Given the description of an element on the screen output the (x, y) to click on. 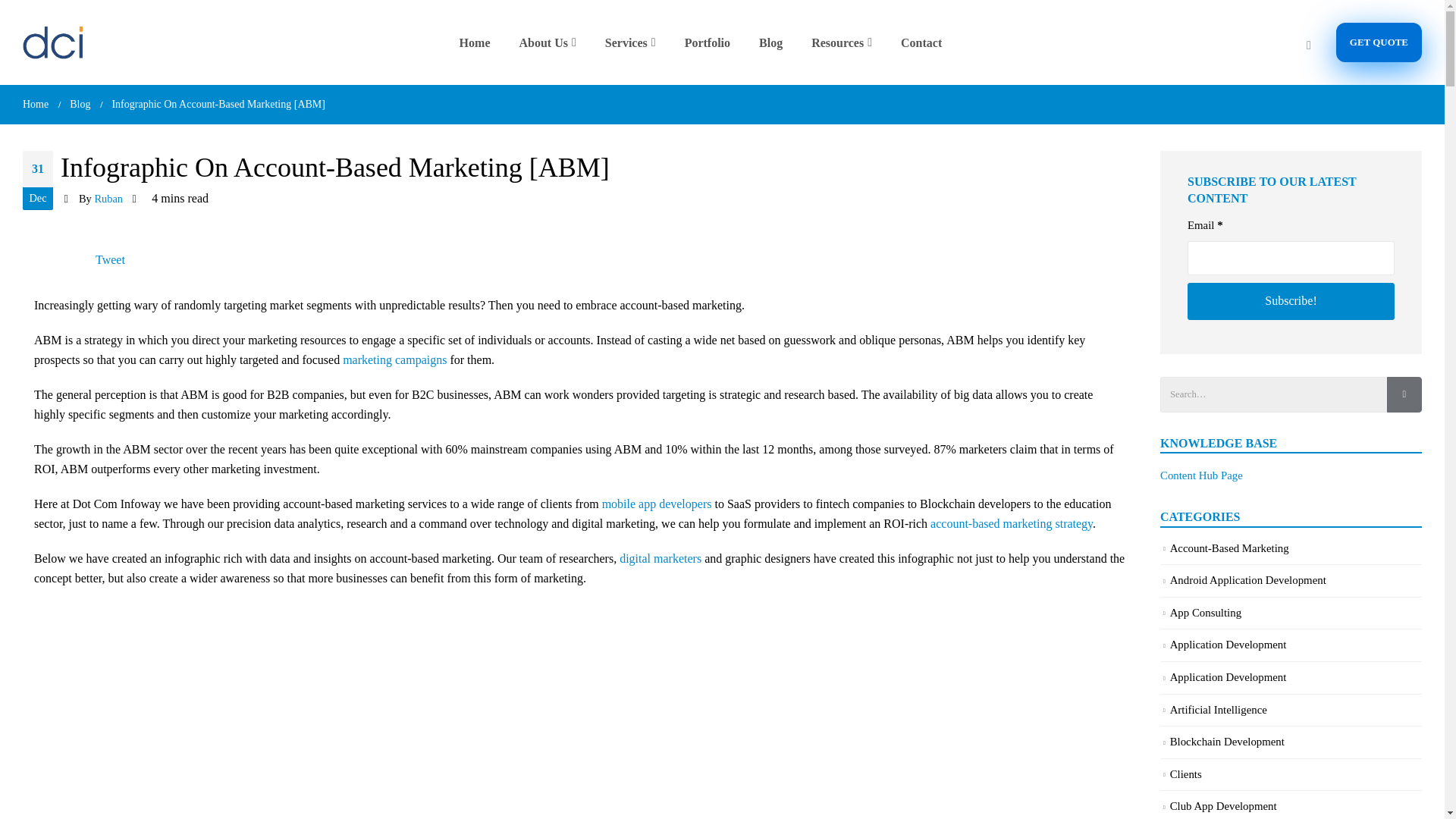
Dot Com Infoway -  (52, 42)
Home (479, 42)
Services (635, 42)
About Us (551, 42)
Go to Home Page (35, 104)
Email (1291, 257)
Subscribe! (1291, 301)
Posts by Ruban (108, 198)
